Given the description of an element on the screen output the (x, y) to click on. 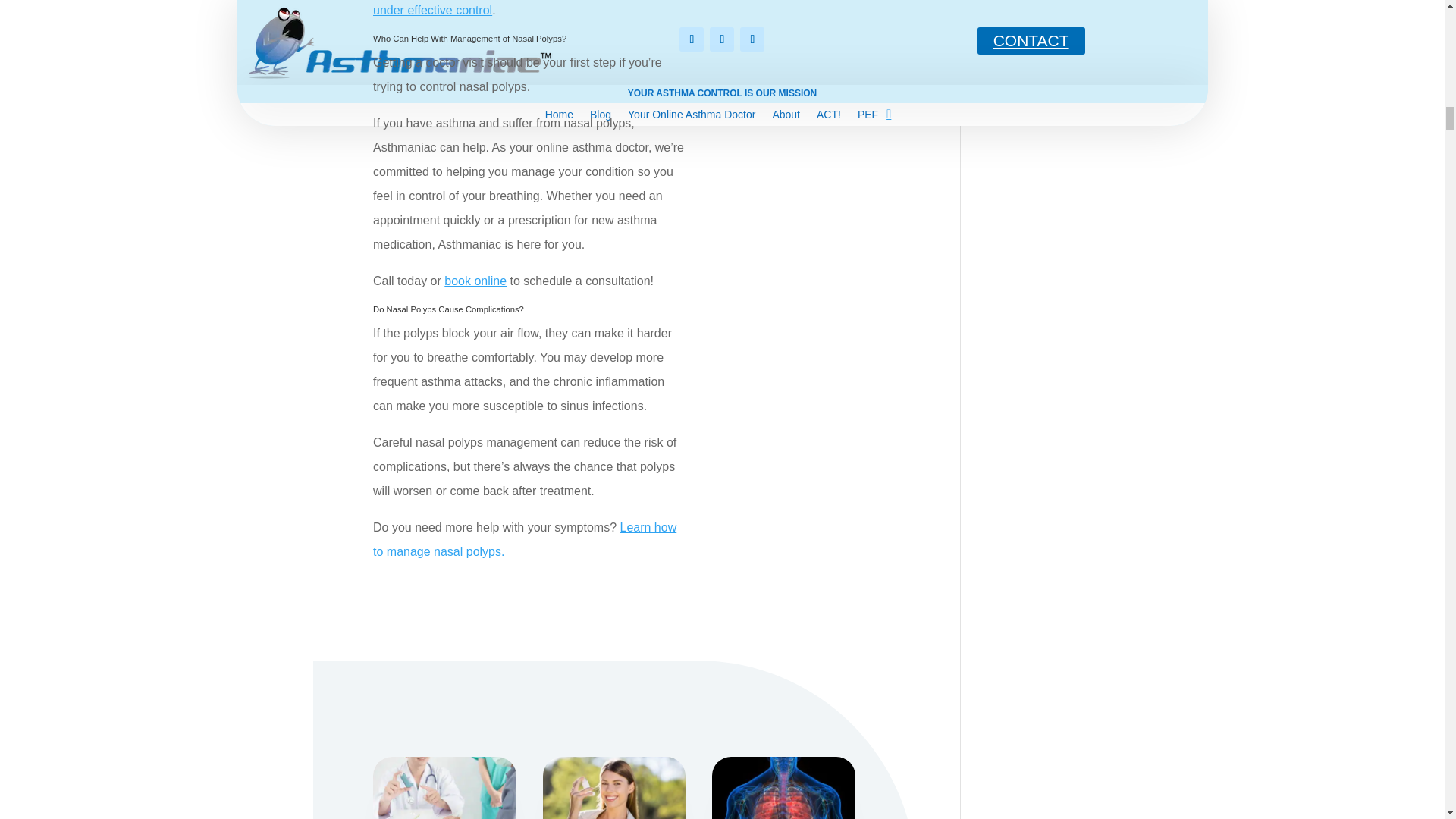
Learn how to manage nasal polyps. (524, 538)
not under effective control (522, 8)
book online (475, 280)
